Given the description of an element on the screen output the (x, y) to click on. 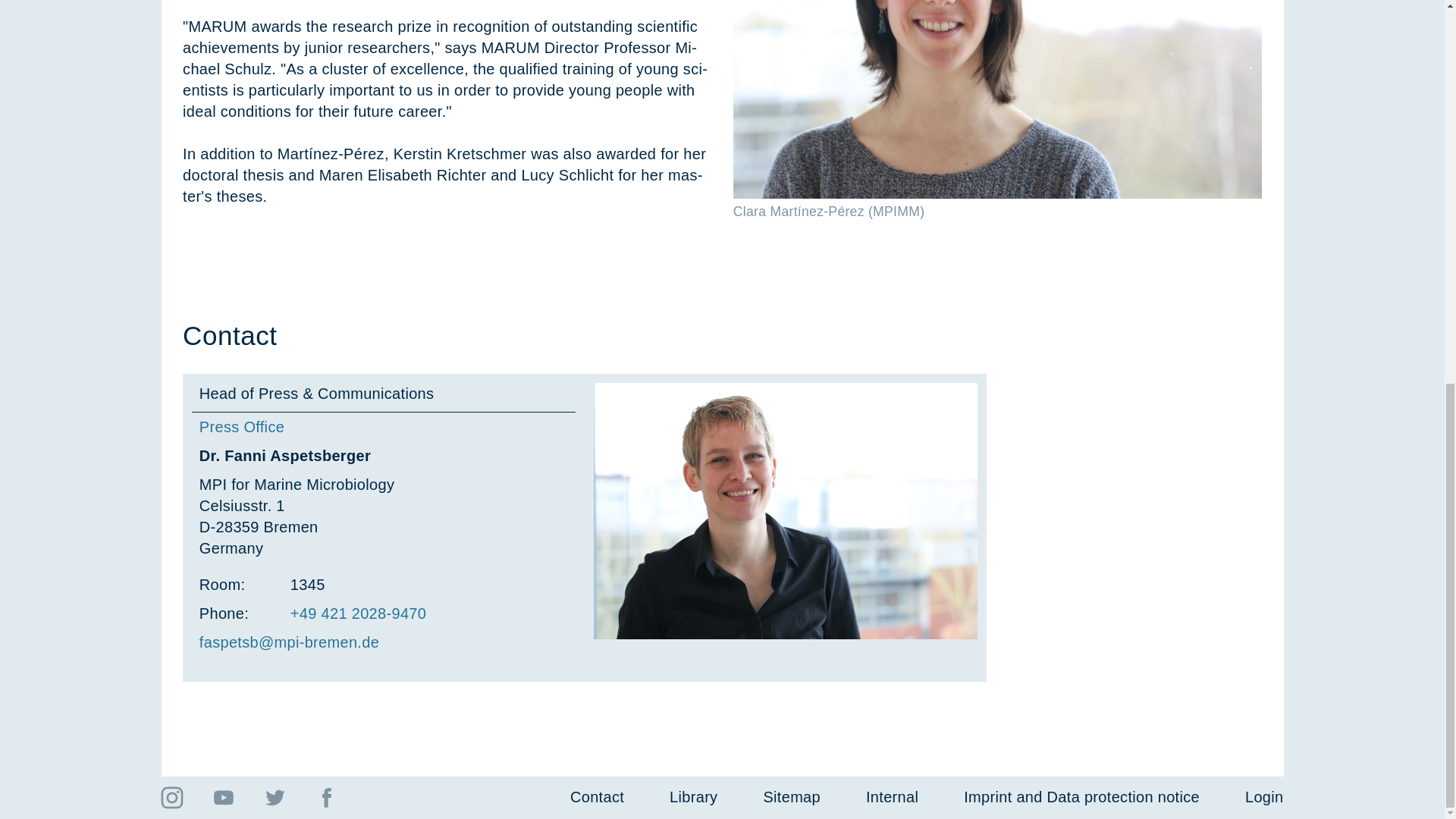
Dr. Fanni Aspetsberger (785, 511)
Clara Martinez Perez (997, 99)
